Given the description of an element on the screen output the (x, y) to click on. 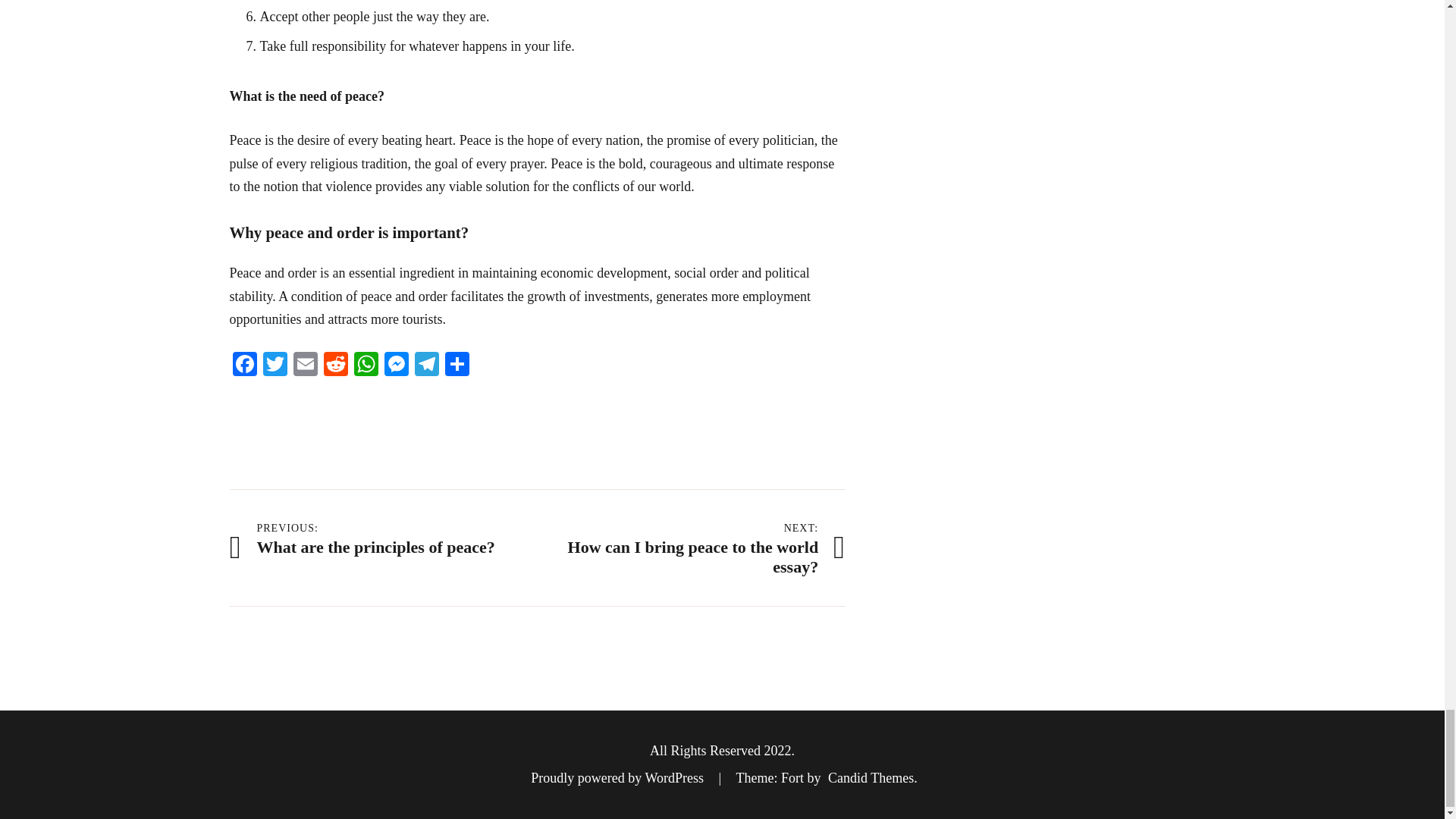
Twitter (691, 547)
Facebook (274, 366)
Telegram (243, 366)
Messenger (425, 366)
Reddit (395, 366)
Messenger (335, 366)
WhatsApp (395, 366)
Facebook (365, 366)
Reddit (243, 366)
Email (335, 366)
Email (304, 366)
WhatsApp (304, 366)
Twitter (365, 366)
